Given the description of an element on the screen output the (x, y) to click on. 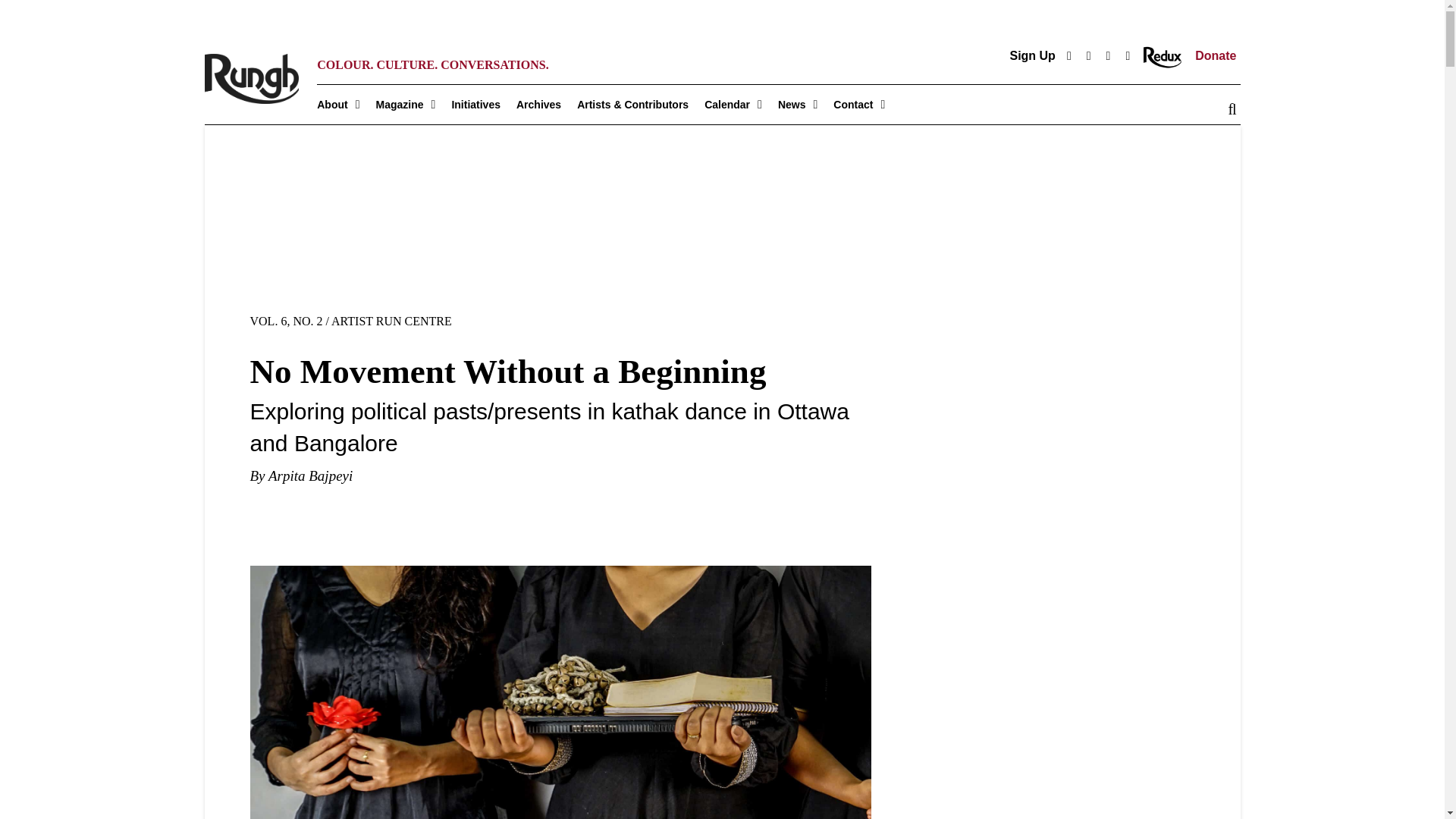
Magazine (413, 104)
VOL. 6, NO. 2 (286, 320)
Calendar (740, 104)
Donate (1214, 55)
Contact (866, 104)
Sign Up (1029, 55)
Archives (546, 104)
Initiatives (483, 104)
ARTIST RUN CENTRE (391, 320)
About (346, 104)
News (804, 104)
